Given the description of an element on the screen output the (x, y) to click on. 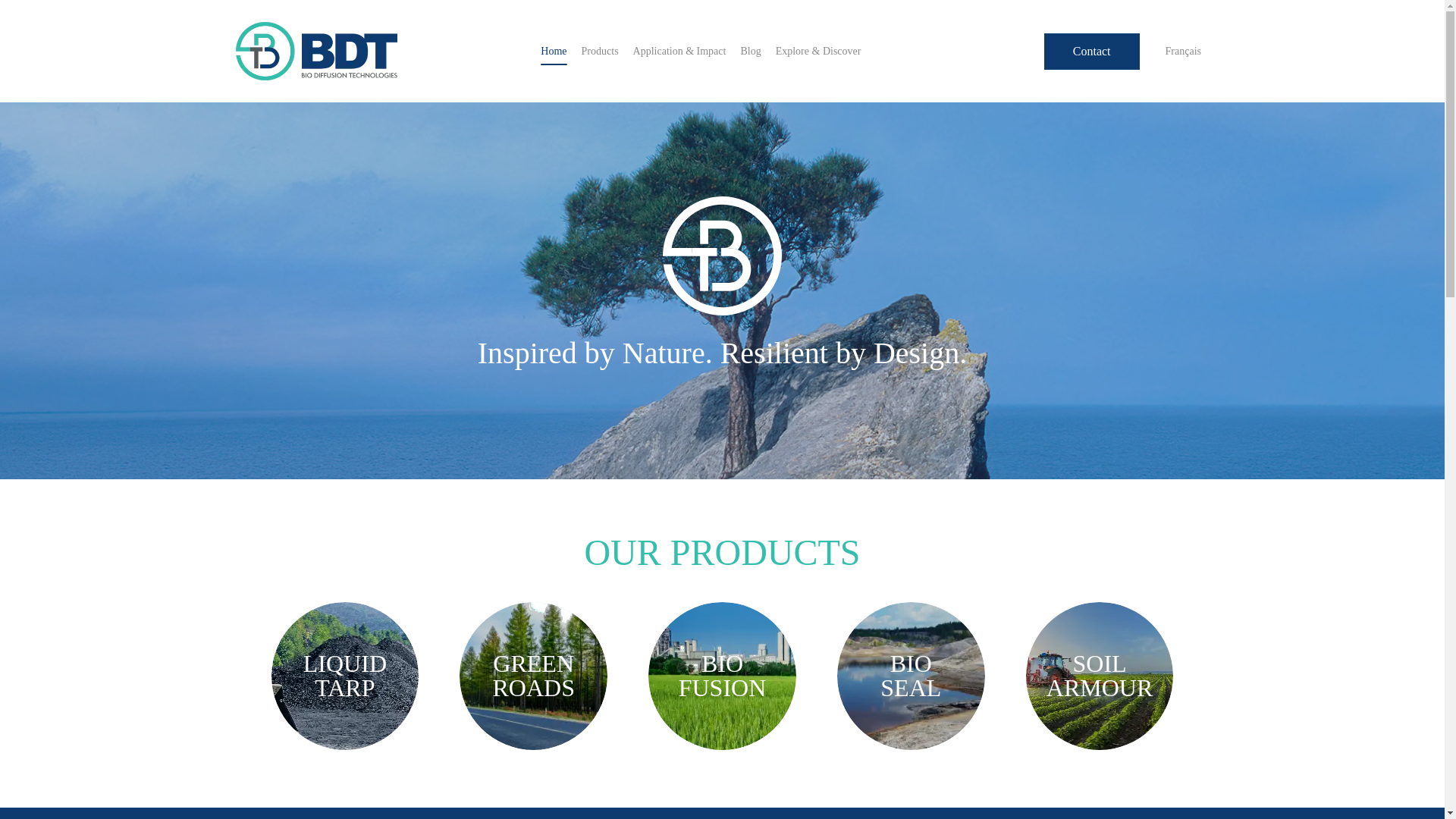
SOIL ARMOUR (1099, 675)
Contact (1091, 51)
BIO SEAL (911, 675)
BIO FUSION (721, 675)
GREEN ROADS (533, 675)
Products (599, 51)
Home (553, 51)
LIQUID TARP (344, 675)
